Given the description of an element on the screen output the (x, y) to click on. 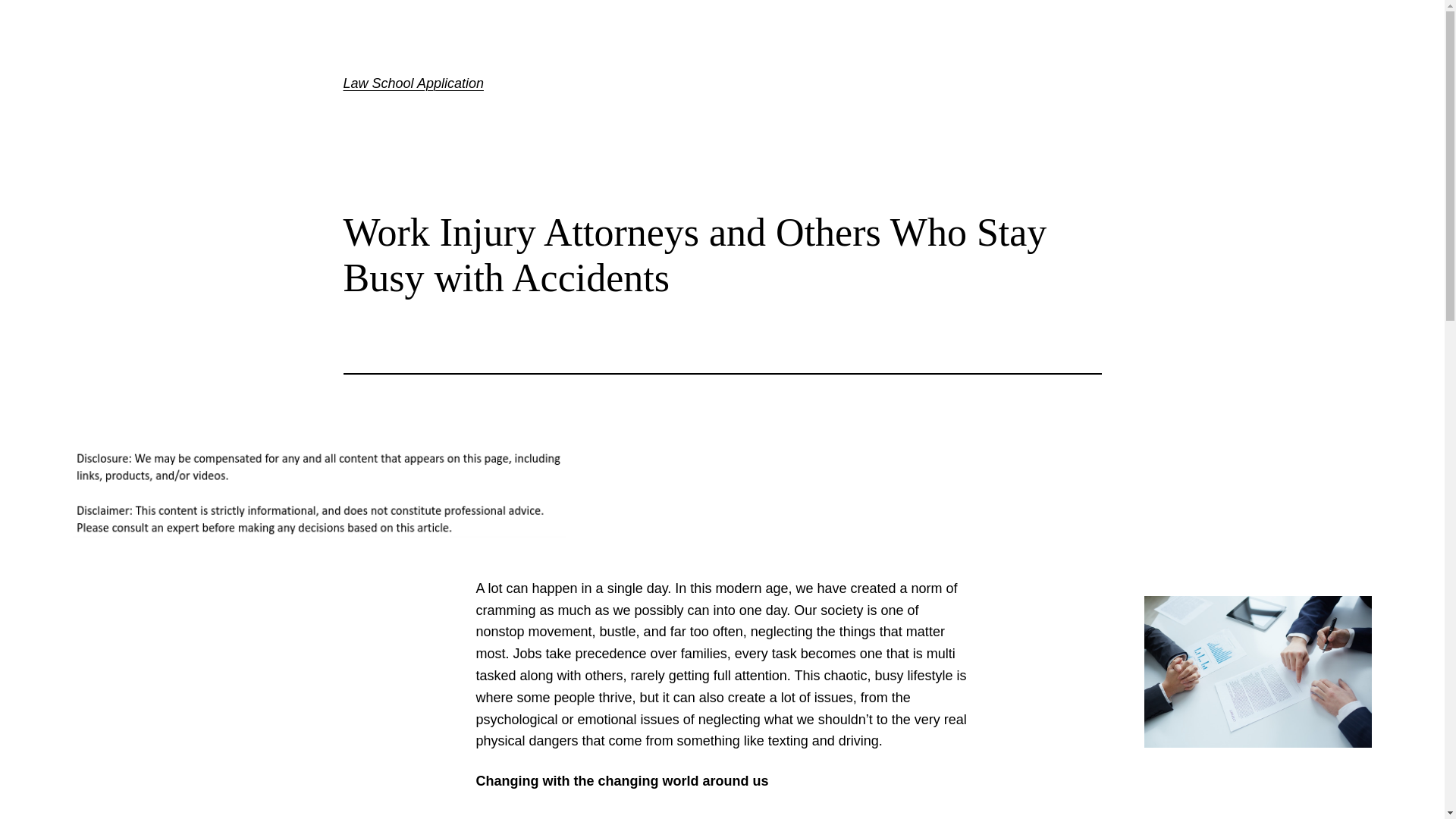
Law School Application (412, 83)
days (782, 818)
Truck accident attorney huntington wv, Mesothelioma lawyers (782, 818)
